Given the description of an element on the screen output the (x, y) to click on. 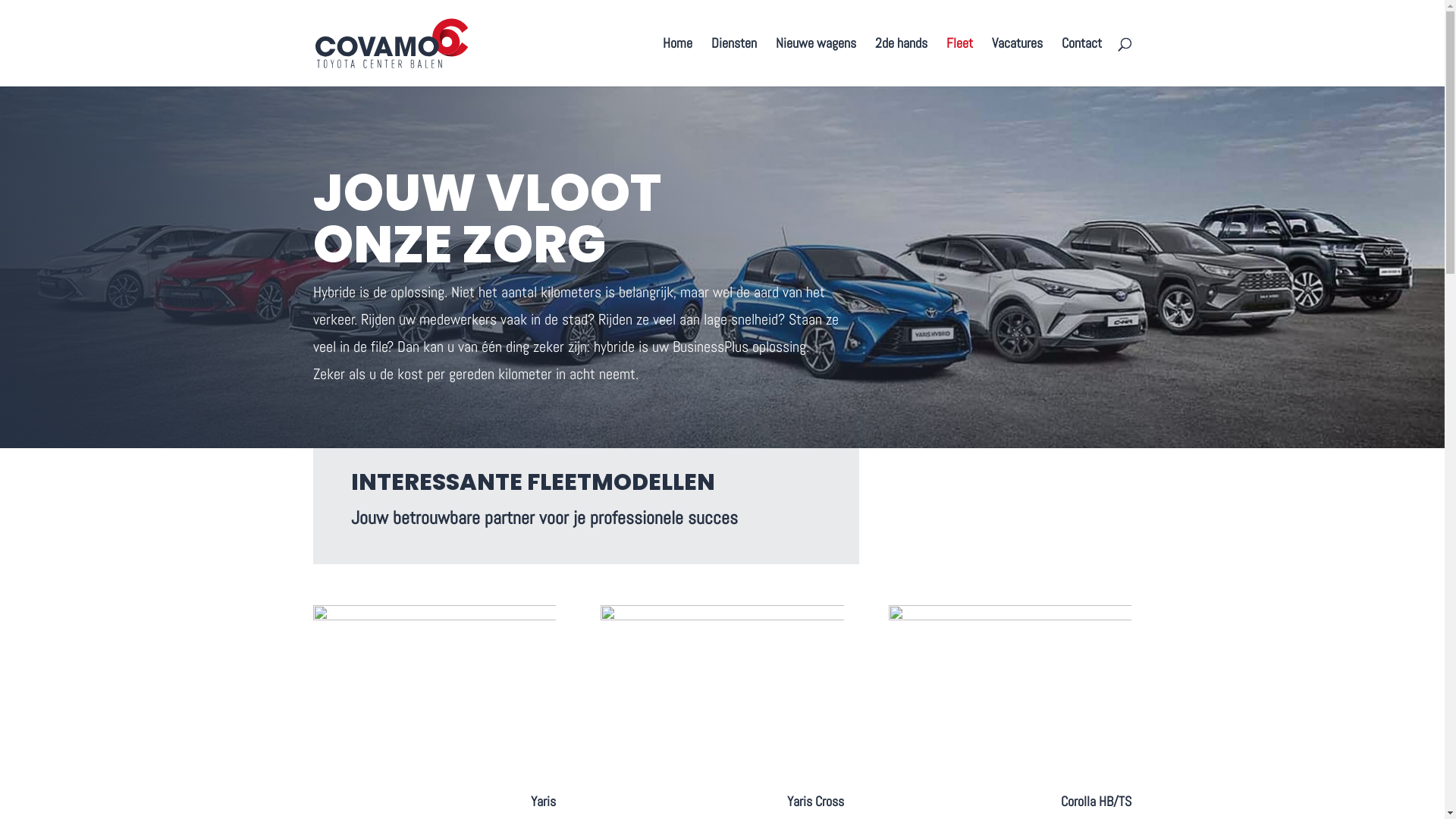
Fleet Element type: text (959, 61)
Diensten Element type: text (733, 61)
Nieuwe wagens Element type: text (815, 61)
Contact Element type: text (1081, 61)
2de hands Element type: text (901, 61)
Vacatures Element type: text (1016, 61)
Home Element type: text (677, 61)
